Given the description of an element on the screen output the (x, y) to click on. 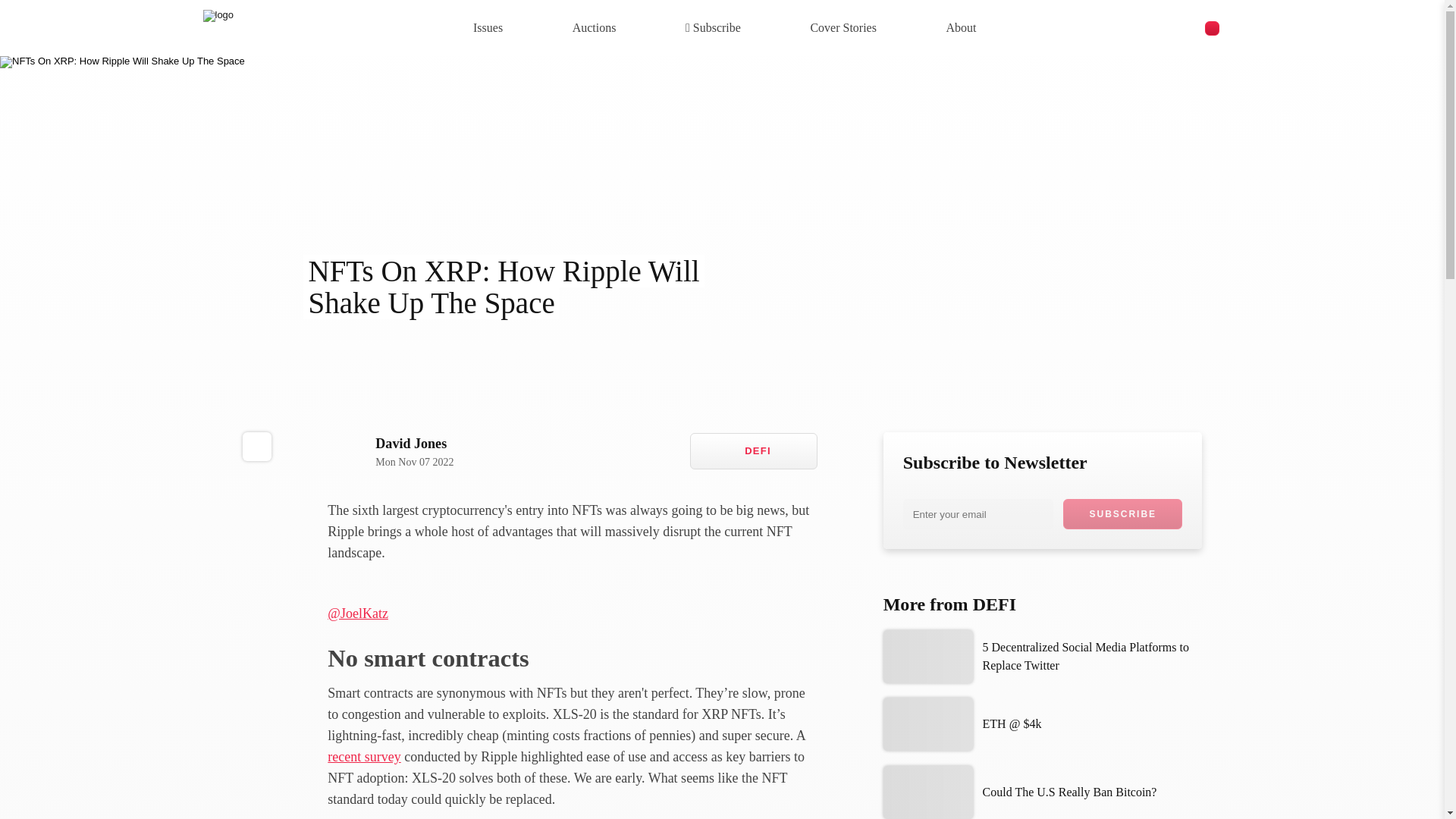
5 Decentralized Social Media Platforms to Replace Twitter (1042, 656)
Issues (389, 451)
SUBSCRIBE (487, 27)
About (1122, 513)
More from DEFI (959, 27)
Cover Stories (1042, 604)
Could The U.S Really Ban Bitcoin? (842, 27)
DEFI (1042, 792)
Auctions (753, 451)
